Given the description of an element on the screen output the (x, y) to click on. 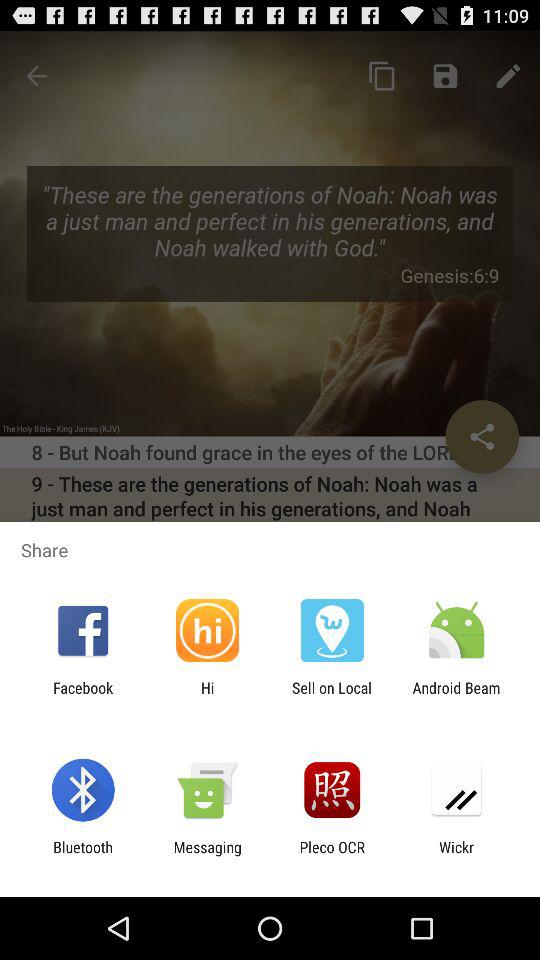
select the icon next to messaging icon (331, 856)
